Given the description of an element on the screen output the (x, y) to click on. 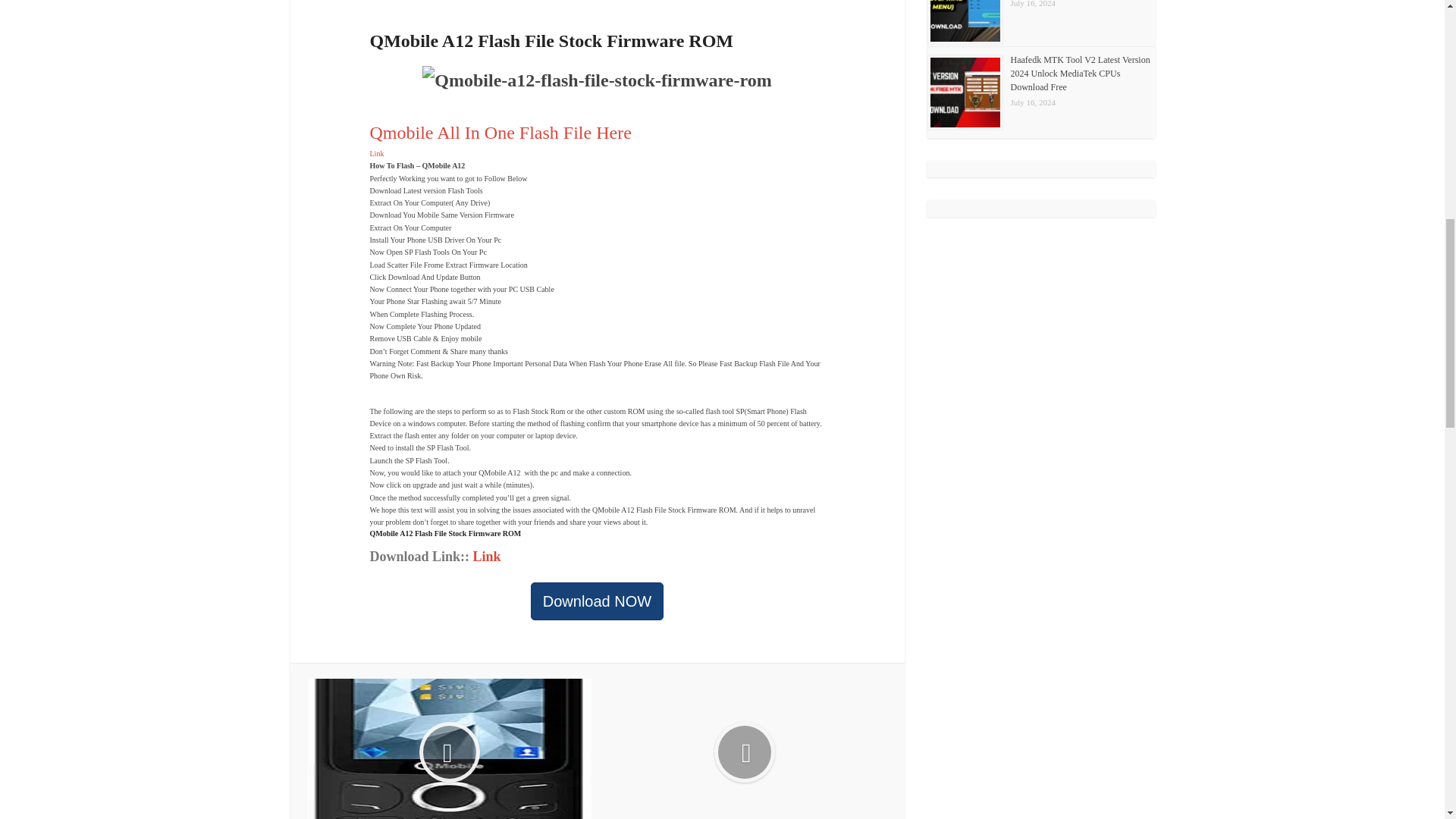
Qmobile diamond 1 flash file stock firmware rom 3 (449, 748)
Q mobile power 4000 mini flash file 4 (744, 748)
Qmobile a12 flash file stock firmware rom 1 (596, 80)
Advertisement (657, 11)
